Given the description of an element on the screen output the (x, y) to click on. 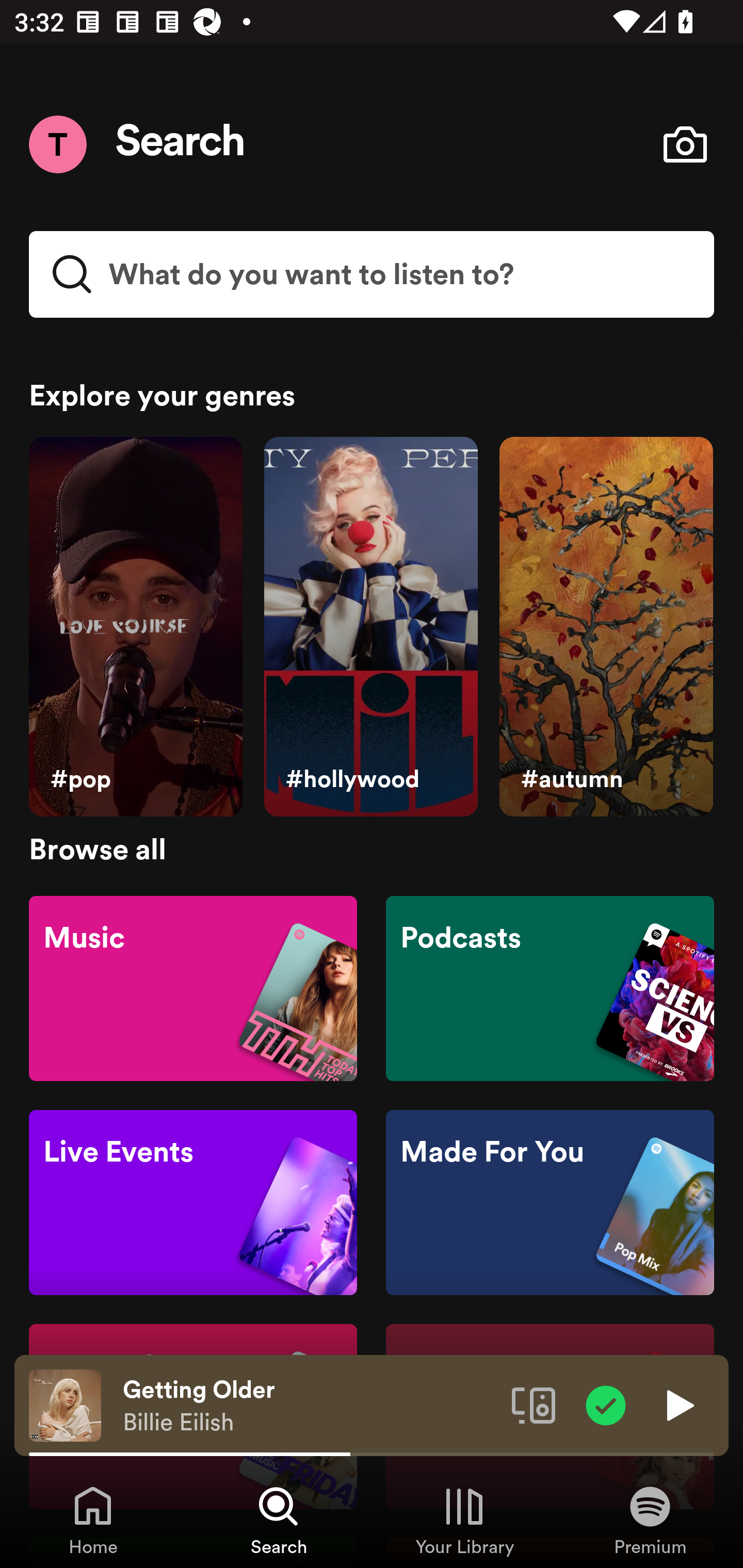
Menu (57, 144)
Open camera (685, 145)
Search (180, 144)
#pop (135, 626)
#hollywood (370, 626)
#autumn (606, 626)
Music (192, 987)
Podcasts (549, 987)
Live Events (192, 1202)
Made For You (549, 1202)
Getting Older Billie Eilish (309, 1405)
The cover art of the currently playing track (64, 1404)
Connect to a device. Opens the devices menu (533, 1404)
Item added (605, 1404)
Play (677, 1404)
Home, Tab 1 of 4 Home Home (92, 1519)
Search, Tab 2 of 4 Search Search (278, 1519)
Your Library, Tab 3 of 4 Your Library Your Library (464, 1519)
